Given the description of an element on the screen output the (x, y) to click on. 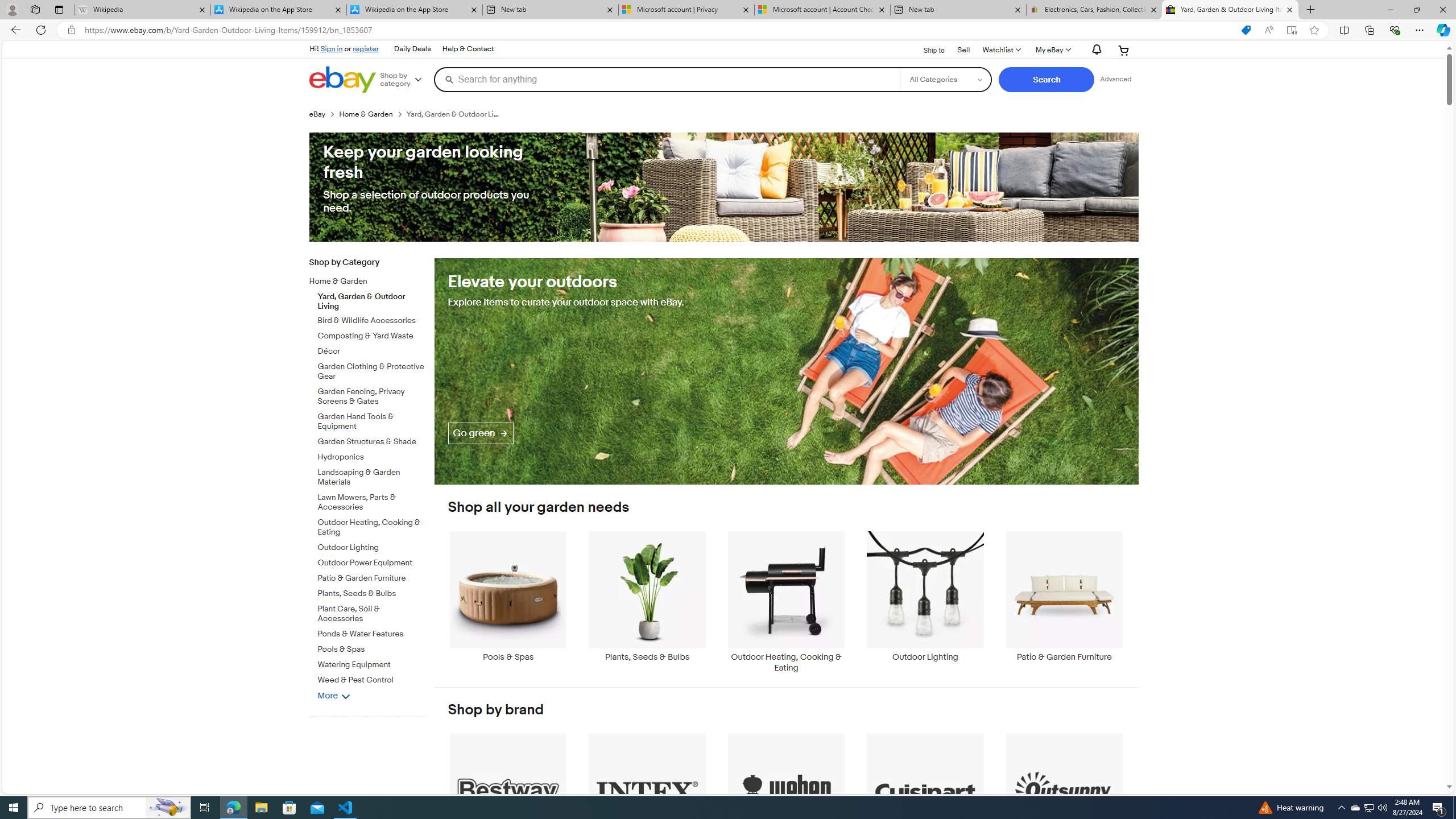
Garden Structures & Shade (371, 439)
Garden Clothing & Protective Gear (371, 371)
Lawn Mowers, Parts & Accessories (371, 500)
Garden Hand Tools & Equipment (371, 421)
Hydroponics (371, 454)
Go green (479, 432)
Yard, Garden & Outdoor Living Items for Sale - eBay (1230, 9)
My eBay (1052, 49)
Ponds & Water Features (371, 633)
Garden Hand Tools & Equipment (371, 419)
WatchlistExpand Watch List (1000, 49)
eBay (317, 113)
